Given the description of an element on the screen output the (x, y) to click on. 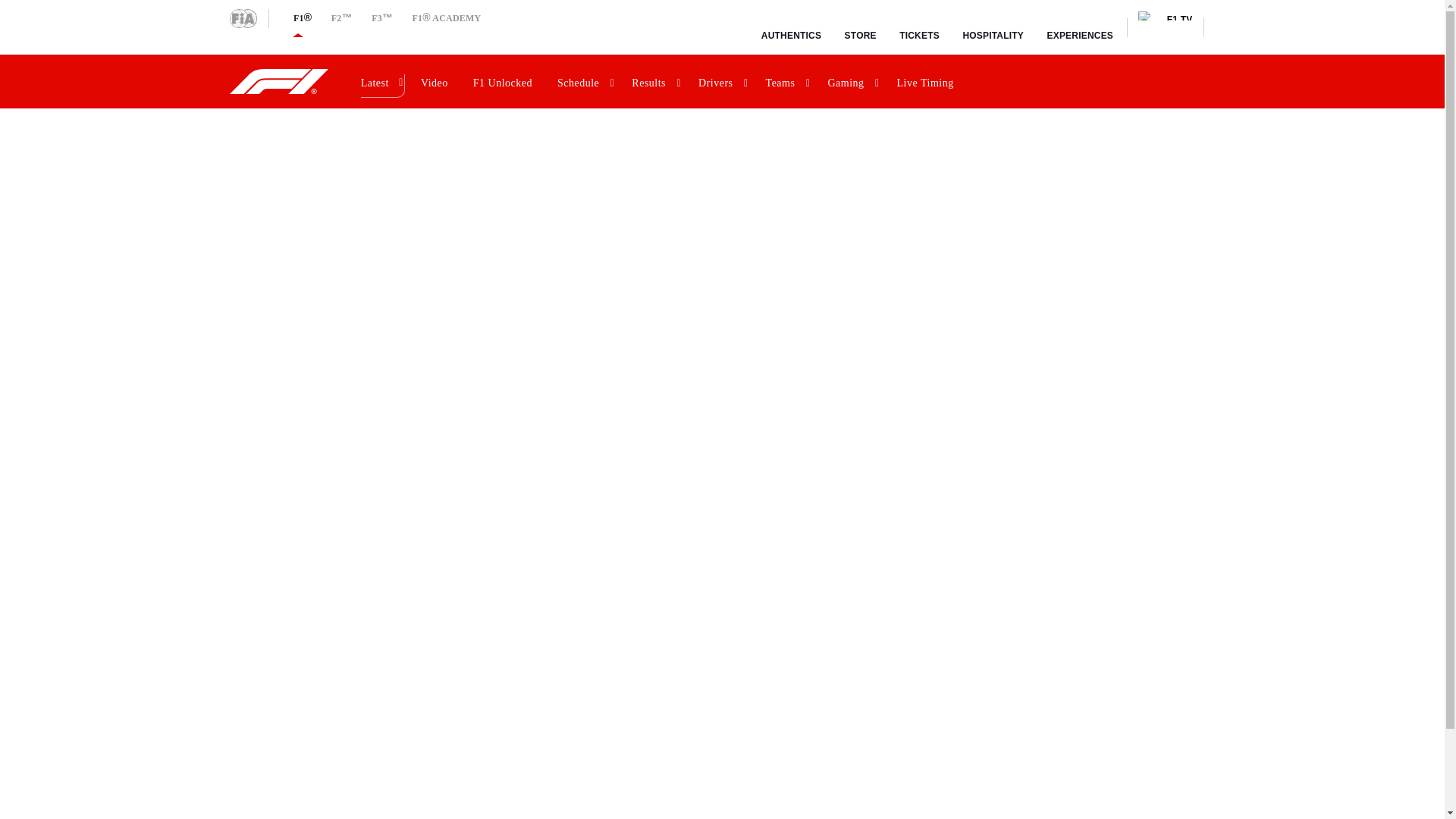
Latest (380, 81)
F1 Unlocked (505, 81)
Schedule (584, 81)
Drivers (721, 81)
Results (654, 81)
Video (436, 81)
